Given the description of an element on the screen output the (x, y) to click on. 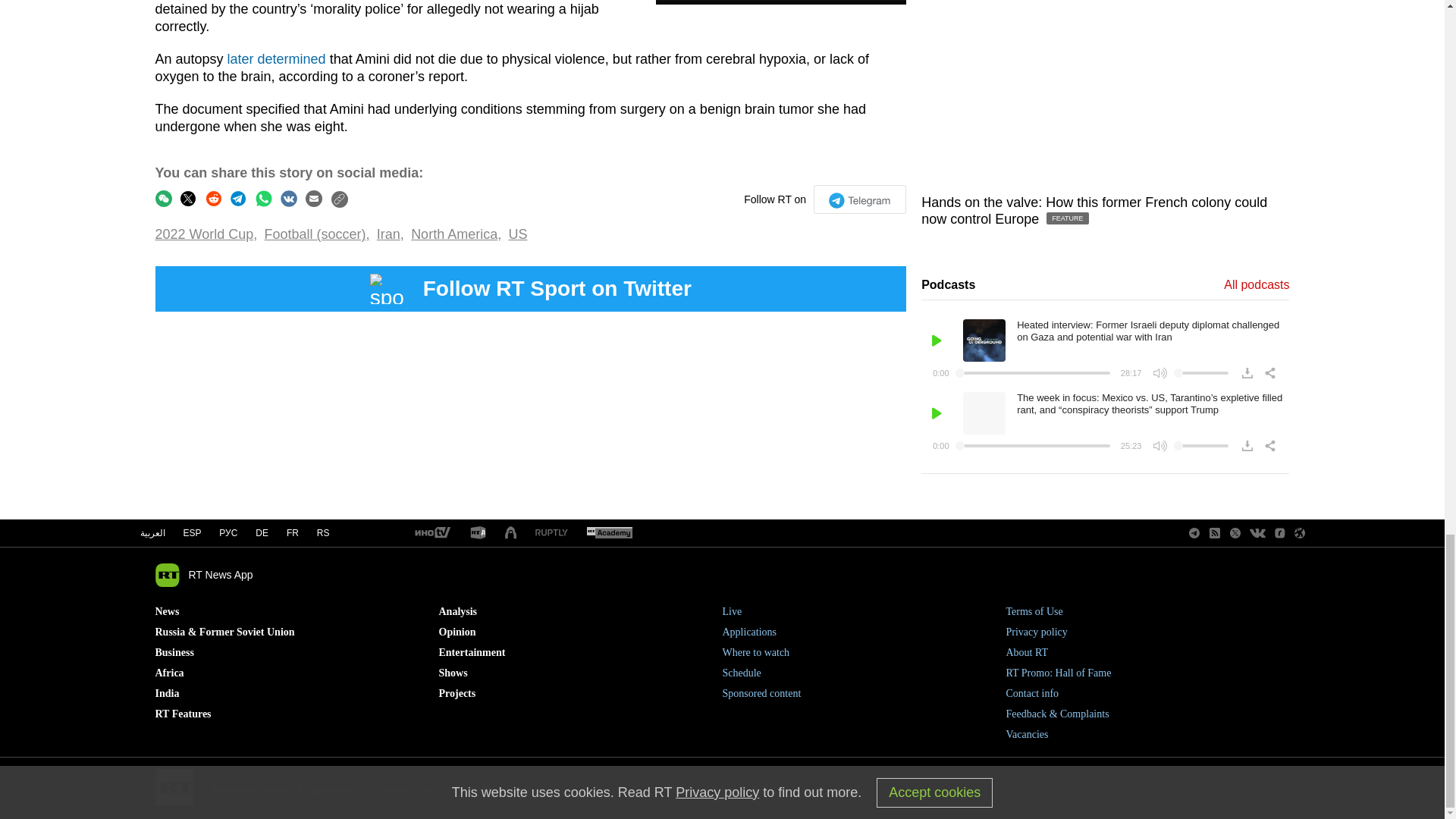
RT  (478, 533)
RT  (608, 533)
RT  (551, 533)
RT  (431, 533)
